Given the description of an element on the screen output the (x, y) to click on. 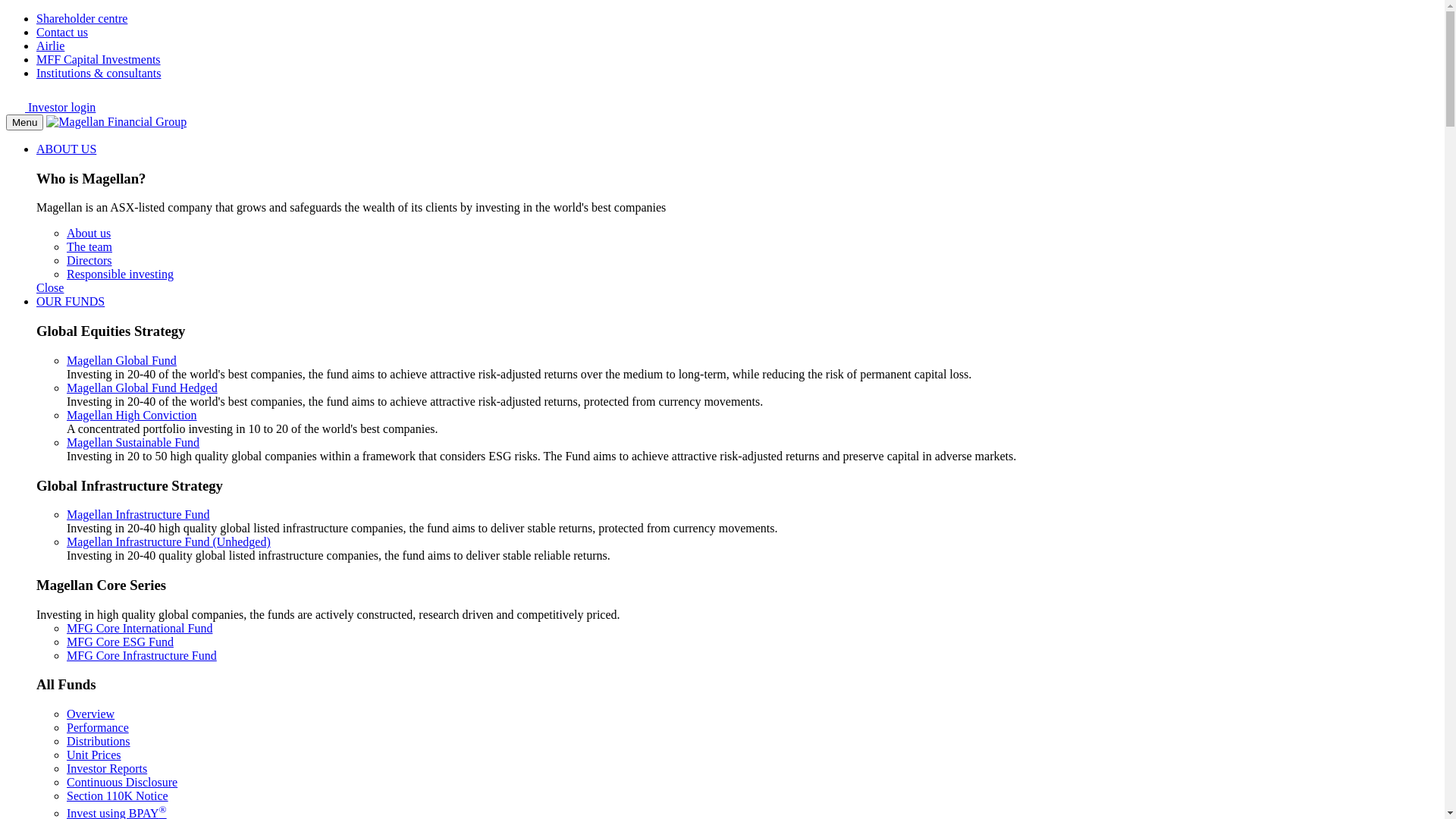
Magellan Global Fund Hedged Element type: text (141, 387)
Institutions & consultants Element type: text (98, 72)
About us Element type: text (88, 232)
Magellan Infrastructure Fund Element type: text (137, 514)
Investor login Element type: text (50, 106)
MFG Core Infrastructure Fund Element type: text (141, 655)
Close Element type: text (49, 287)
Performance Element type: text (97, 727)
Overview Element type: text (90, 713)
Airlie Element type: text (50, 45)
Directors Element type: text (89, 260)
MFG Core ESG Fund Element type: text (119, 641)
Responsible investing Element type: text (119, 273)
Section 110K Notice Element type: text (117, 795)
Contact us Element type: text (61, 31)
The team Element type: text (89, 246)
Continuous Disclosure Element type: text (121, 781)
Magellan Sustainable Fund Element type: text (132, 442)
OUR FUNDS Element type: text (70, 300)
Shareholder centre Element type: text (81, 18)
Magellan High Conviction Element type: text (131, 414)
ABOUT US Element type: text (66, 148)
MFF Capital Investments Element type: text (98, 59)
Magellan Infrastructure Fund (Unhedged) Element type: text (168, 541)
Menu Element type: text (24, 122)
Unit Prices Element type: text (93, 754)
Distributions Element type: text (98, 740)
Magellan Global Fund Element type: text (121, 360)
MFG Core International Fund Element type: text (139, 627)
Investor Reports Element type: text (106, 768)
